Given the description of an element on the screen output the (x, y) to click on. 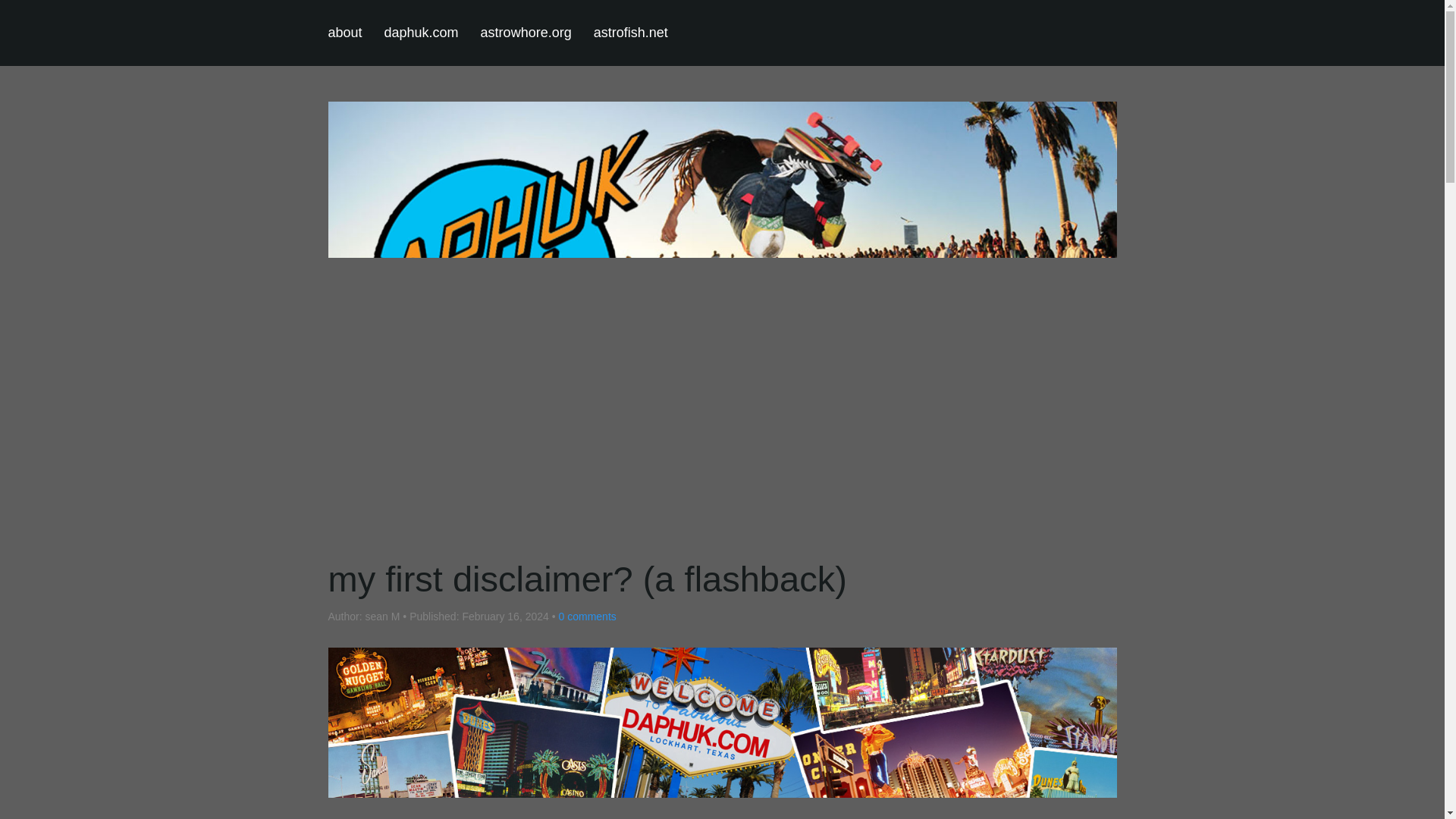
2024-02-16 (721, 33)
0 comments (504, 616)
astrofish.net (583, 616)
astrowhore.org (631, 33)
daphuk.com (526, 33)
